Given the description of an element on the screen output the (x, y) to click on. 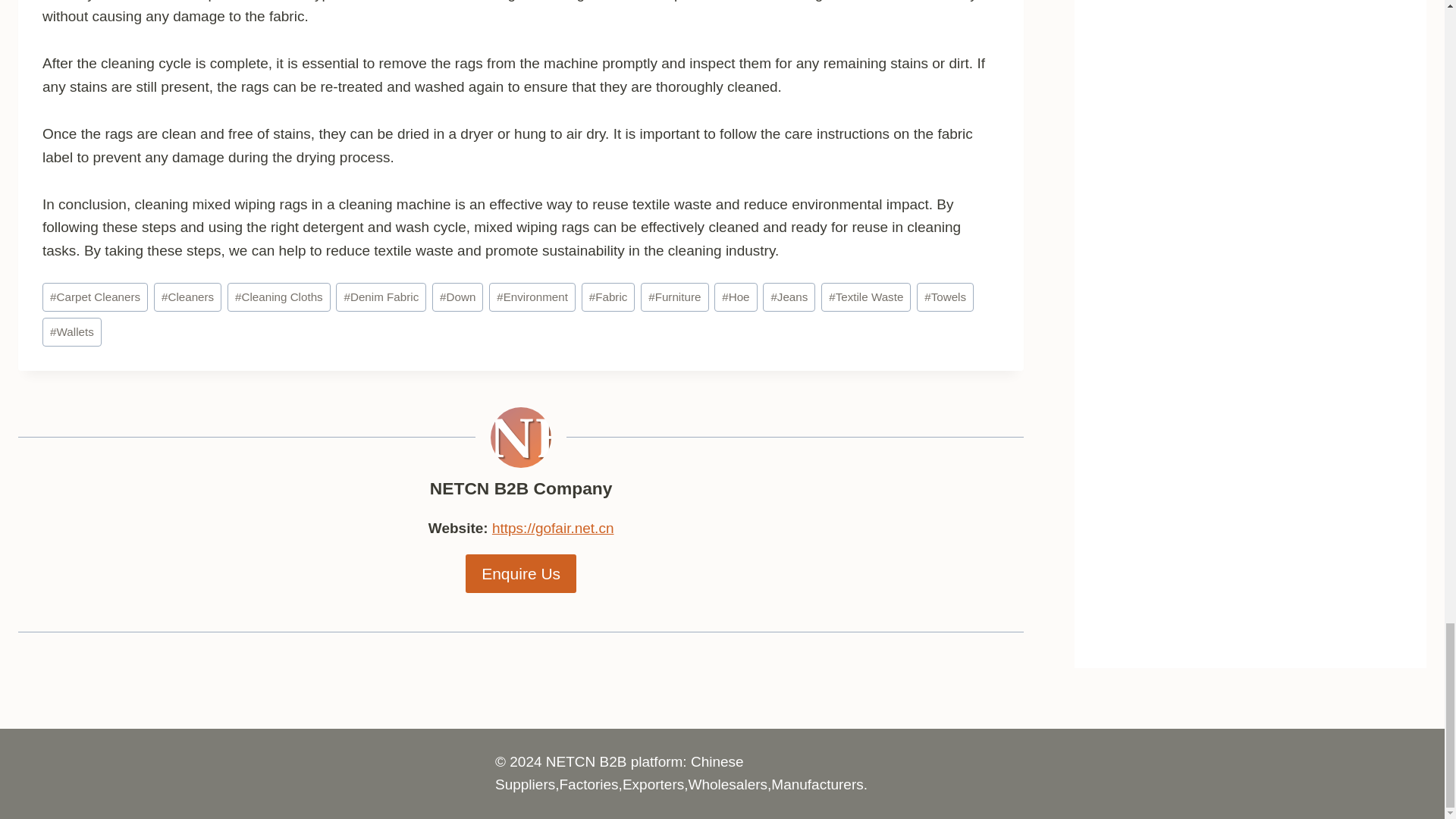
Wallets (71, 331)
Carpet Cleaners (95, 297)
Down (457, 297)
Environment (532, 297)
Furniture (673, 297)
Hoe (735, 297)
Cleaners (187, 297)
Towels (945, 297)
Jeans (788, 297)
Textile Waste (866, 297)
Cleaning Cloths (278, 297)
Denim Fabric (381, 297)
Fabric (607, 297)
